Given the description of an element on the screen output the (x, y) to click on. 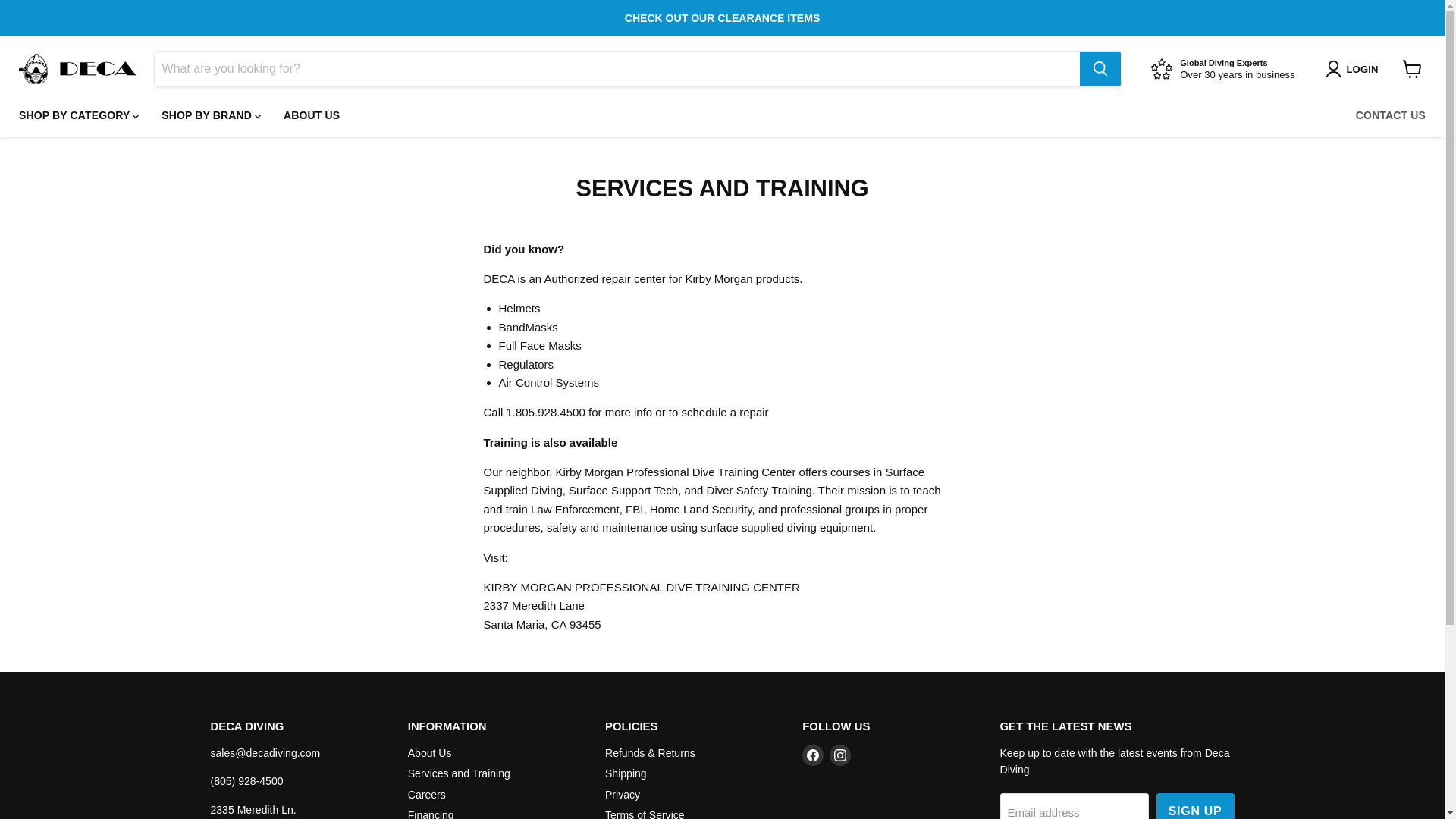
Facebook (813, 754)
View cart (1411, 68)
1.805.928.4500 (545, 411)
Instagram (839, 754)
LOGIN (1354, 68)
